Given the description of an element on the screen output the (x, y) to click on. 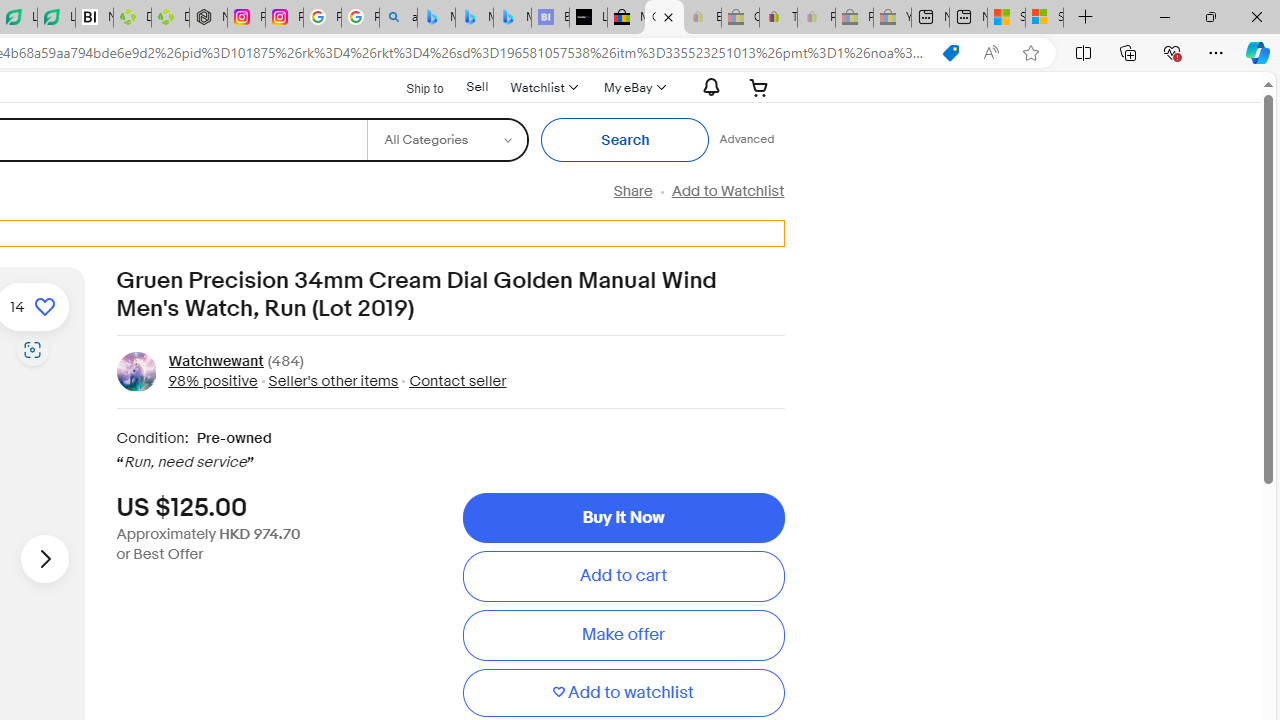
Nordace - Nordace Edin Collection (207, 17)
LendingTree - Compare Lenders (56, 17)
  Seller's other items (328, 380)
Next image - Item images thumbnails (44, 558)
My eBay (632, 87)
Threats and offensive language policy | eBay (778, 17)
Add to cart (623, 576)
